Given the description of an element on the screen output the (x, y) to click on. 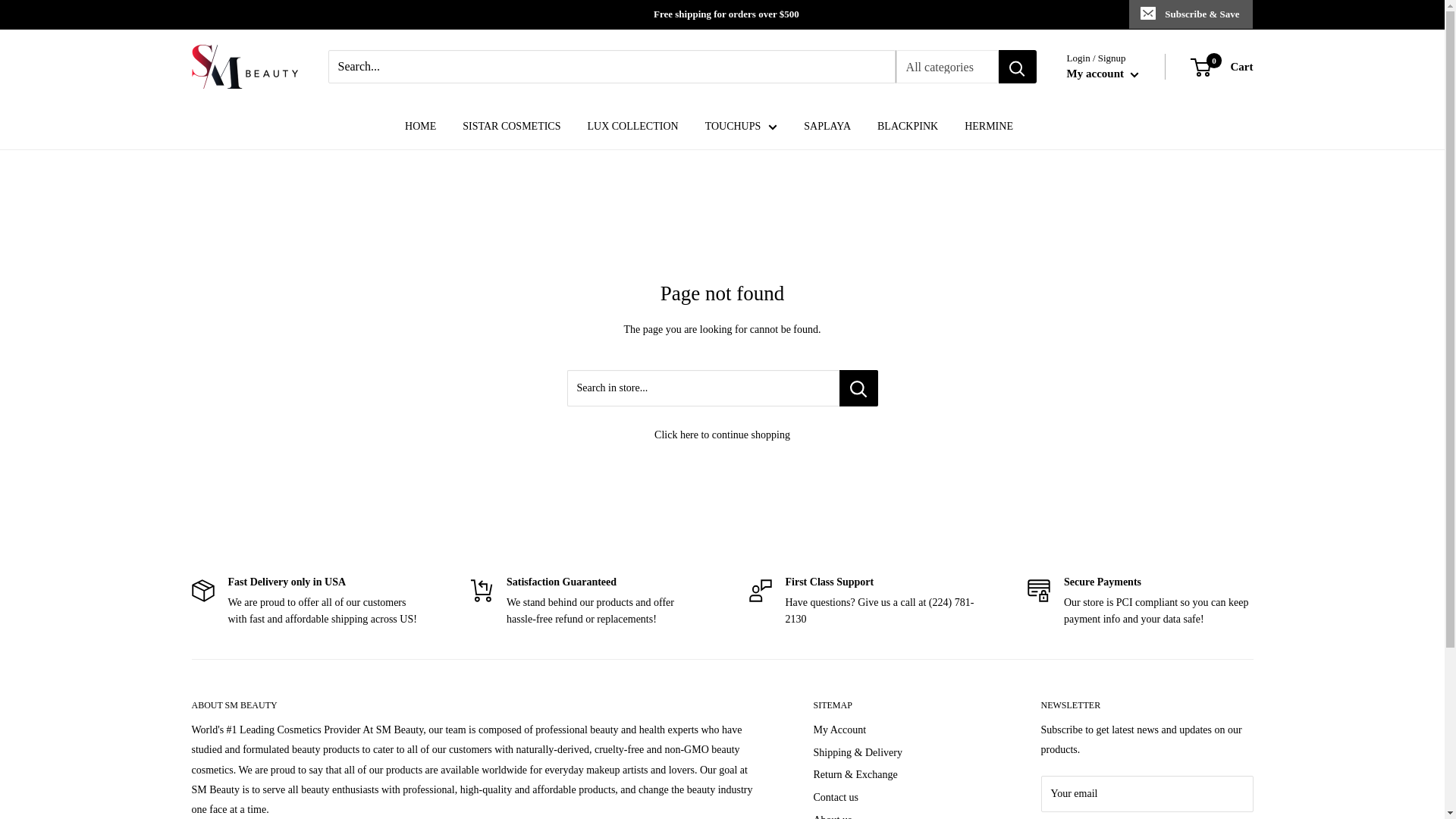
HOME (419, 126)
SISTAR COSMETICS (511, 126)
SM Beauty (243, 66)
LUX COLLECTION (632, 126)
My account (1222, 66)
TOUCHUPS (1102, 73)
